Given the description of an element on the screen output the (x, y) to click on. 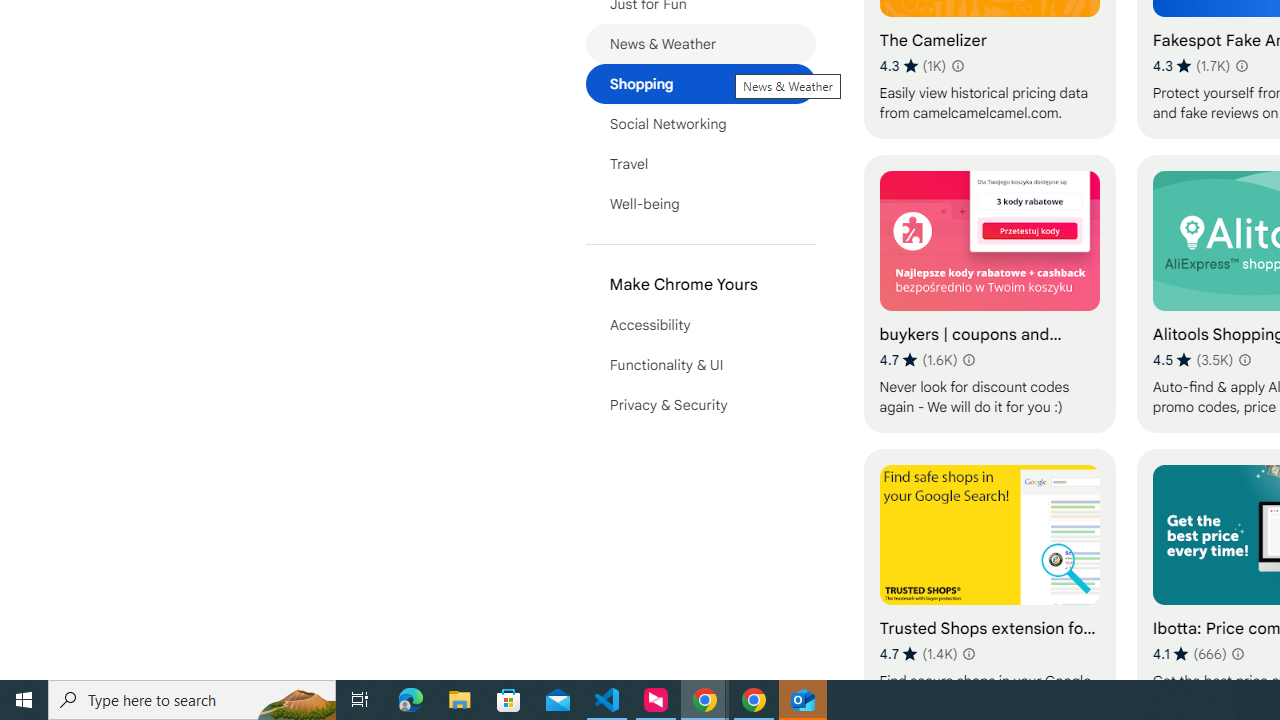
Average rating 4.7 out of 5 stars. 1.4K ratings. (918, 653)
Average rating 4.1 out of 5 stars. 666 ratings. (1189, 653)
Shopping (selected) (700, 83)
Average rating 4.7 out of 5 stars. 1.6K ratings. (918, 359)
Average rating 4.3 out of 5 stars. 1.7K ratings. (1191, 66)
